Given the description of an element on the screen output the (x, y) to click on. 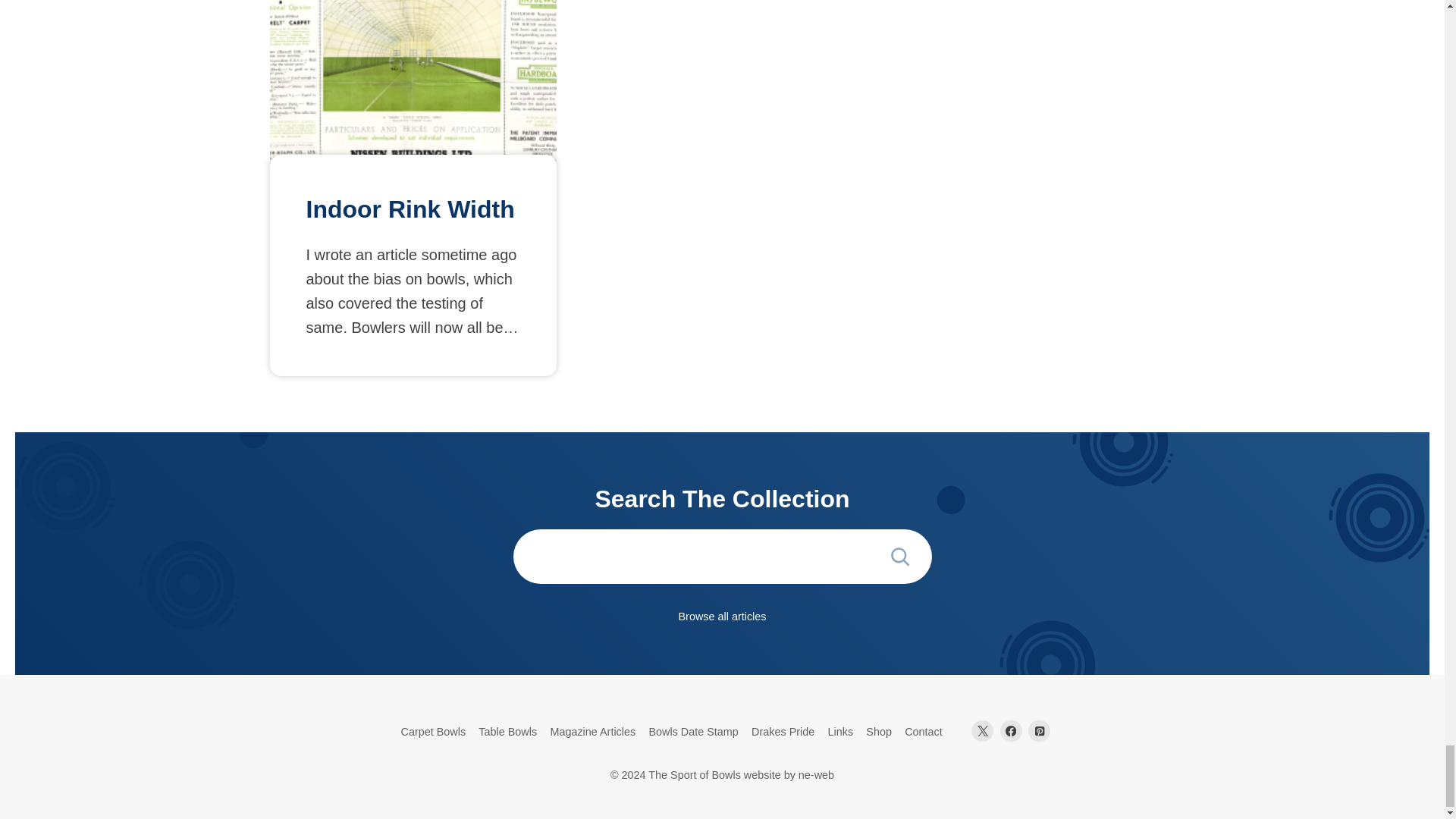
Magazine Articles (592, 732)
Drakes Pride (782, 732)
Contact (923, 732)
Links (840, 732)
Table Bowls (507, 732)
Shop (879, 732)
Bowls Date Stamp (693, 732)
Browse all articles (721, 616)
ne-web (815, 775)
Carpet Bowls (432, 732)
